Given the description of an element on the screen output the (x, y) to click on. 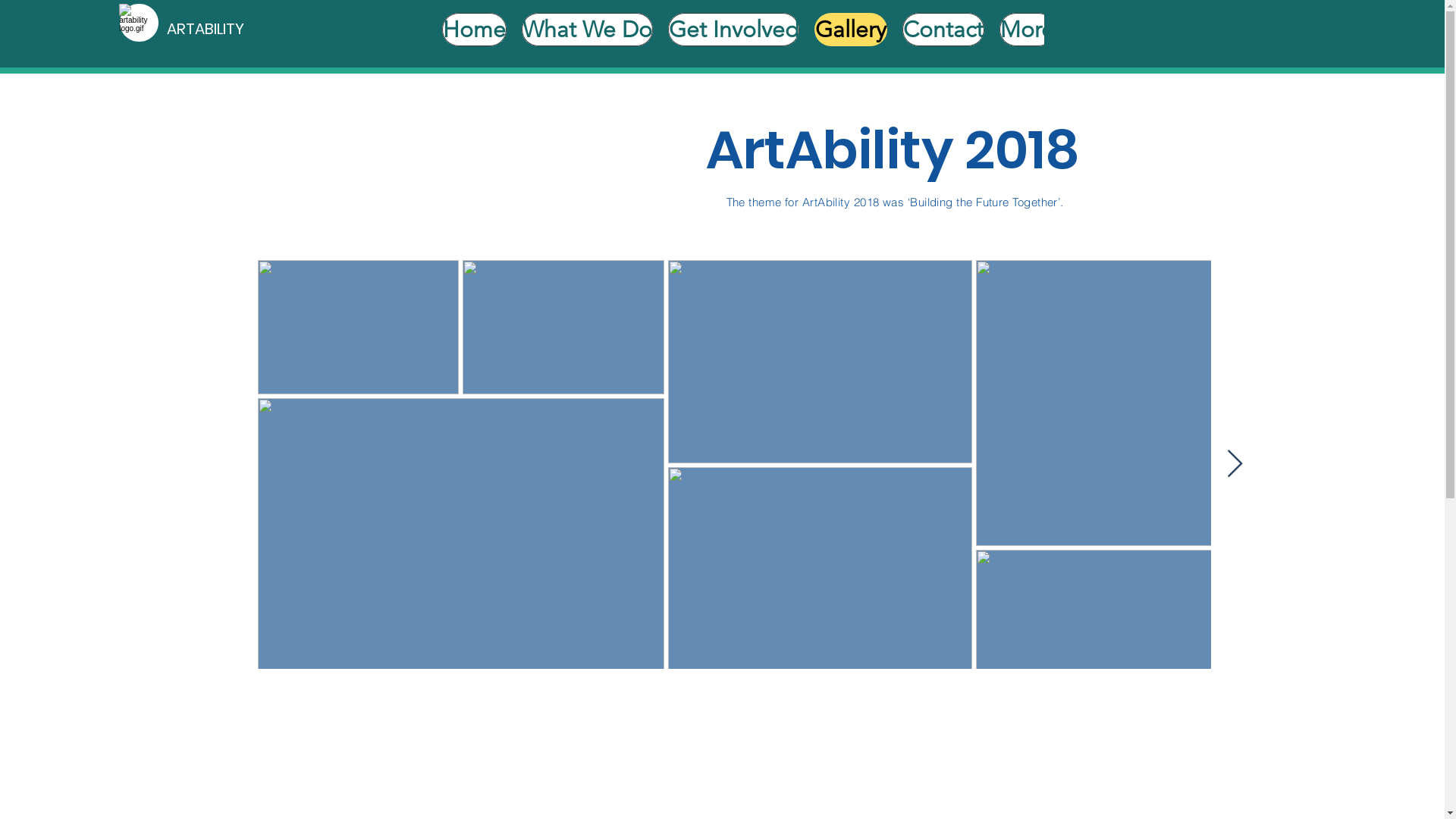
ARTABILITY Element type: text (245, 28)
Get Involved Element type: text (733, 33)
Home Element type: text (474, 33)
What We Do Element type: text (586, 33)
Contact Element type: text (943, 33)
Gallery Element type: text (850, 33)
